Given the description of an element on the screen output the (x, y) to click on. 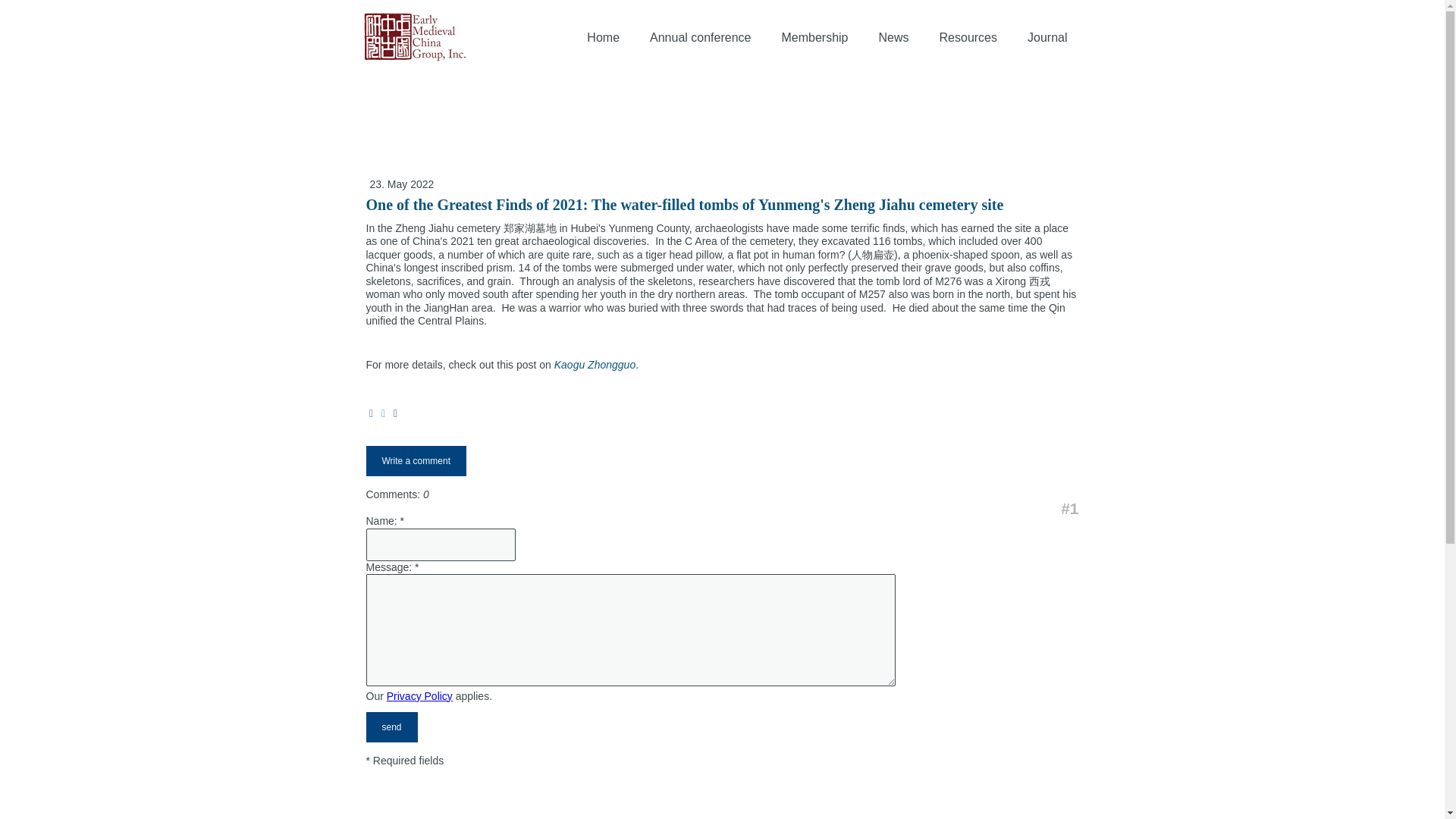
Annual conference (700, 37)
Facebook (370, 413)
Home (602, 37)
Twitter (382, 413)
Membership (814, 37)
Email (395, 413)
Journal (1047, 37)
News (893, 37)
send (390, 726)
Resources (968, 37)
